Given the description of an element on the screen output the (x, y) to click on. 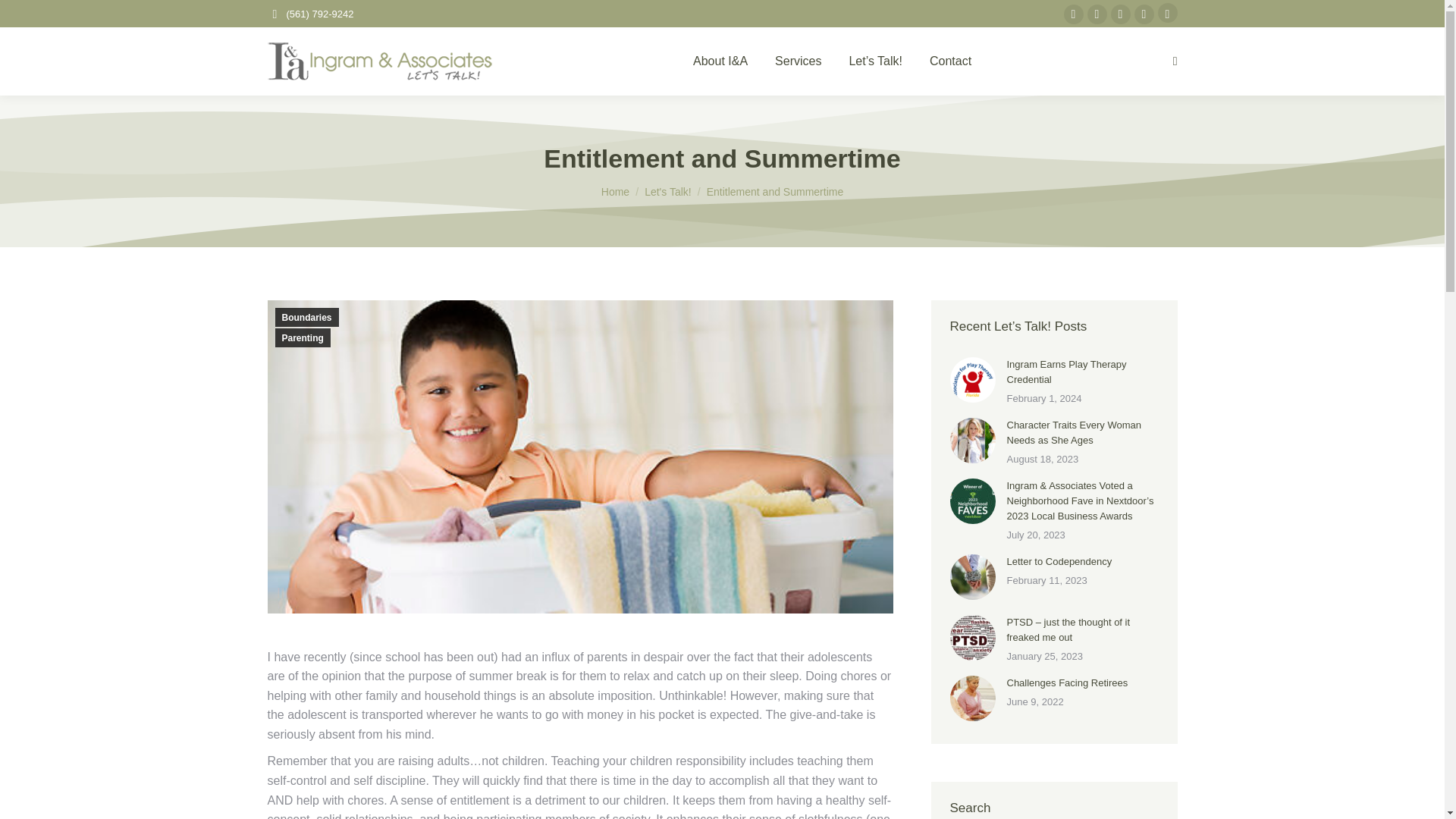
Instagram page opens in new window (1096, 14)
Facebook page opens in new window (1072, 14)
X page opens in new window (1119, 14)
Instagram page opens in new window (1096, 14)
Go! (24, 16)
X page opens in new window (1119, 14)
Linkedin page opens in new window (1144, 14)
NextDoor page opens in new window (1166, 12)
NextDoor page opens in new window (1166, 12)
Services (797, 60)
Linkedin page opens in new window (1144, 14)
Facebook page opens in new window (1072, 14)
Contact (950, 60)
